Given the description of an element on the screen output the (x, y) to click on. 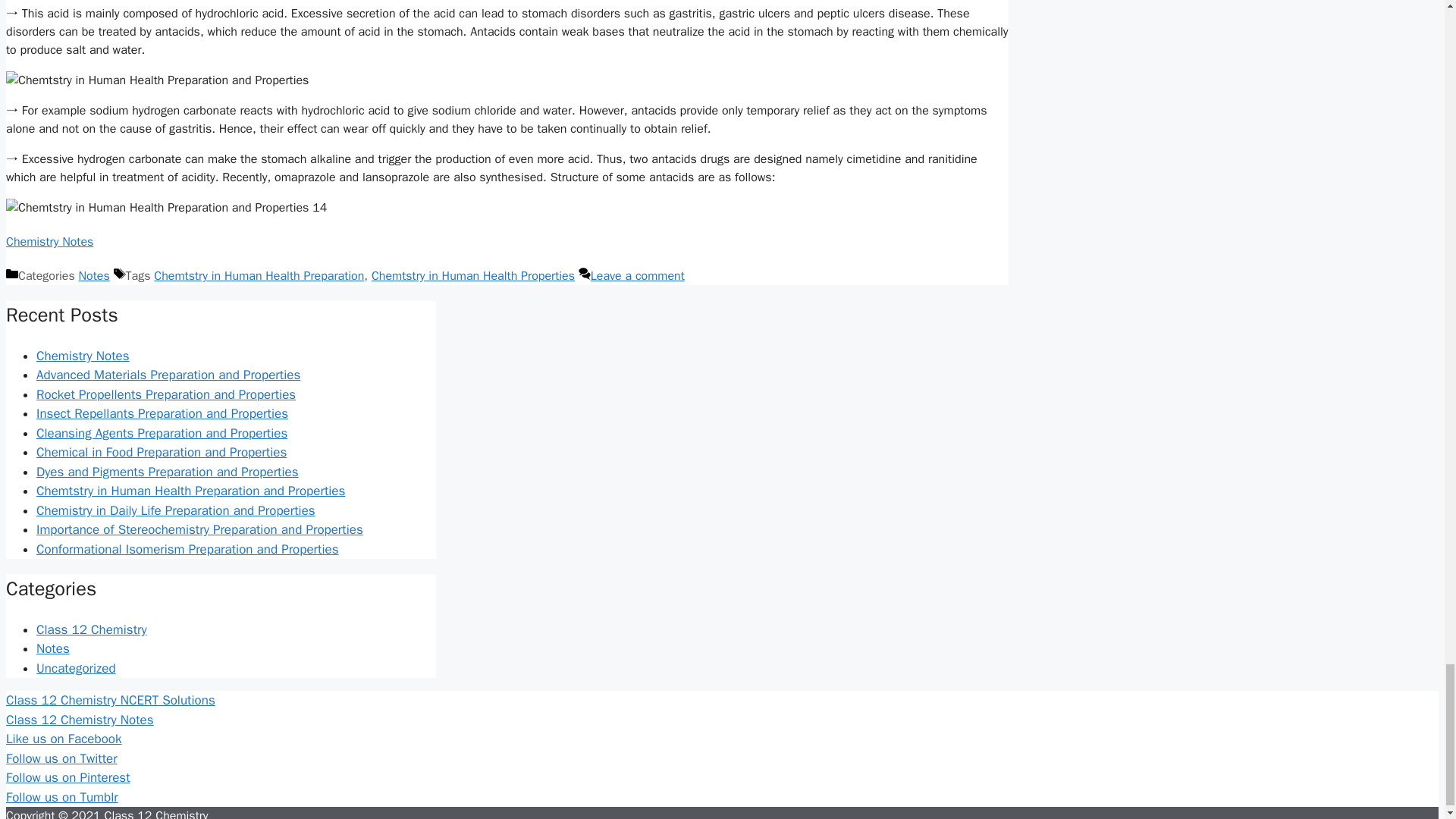
Advanced Materials Preparation and Properties (167, 374)
Class 12 Chemistry Notes (79, 719)
Notes (52, 648)
Cleansing Agents Preparation and Properties (161, 433)
Chemical in Food Preparation and Properties (161, 452)
Conformational Isomerism Preparation and Properties (187, 549)
Follow us on Tumblr (61, 797)
Chemistry in Daily Life Preparation and Properties (175, 510)
Chemtstry in Human Health Properties (473, 275)
Notes (94, 275)
Chemistry Notes (82, 355)
Like us on Facebook (62, 738)
Importance of Stereochemistry Preparation and Properties (199, 529)
Class 12 Chemistry NCERT Solutions (110, 700)
Chemtstry in Human Health Preparation (259, 275)
